Given the description of an element on the screen output the (x, y) to click on. 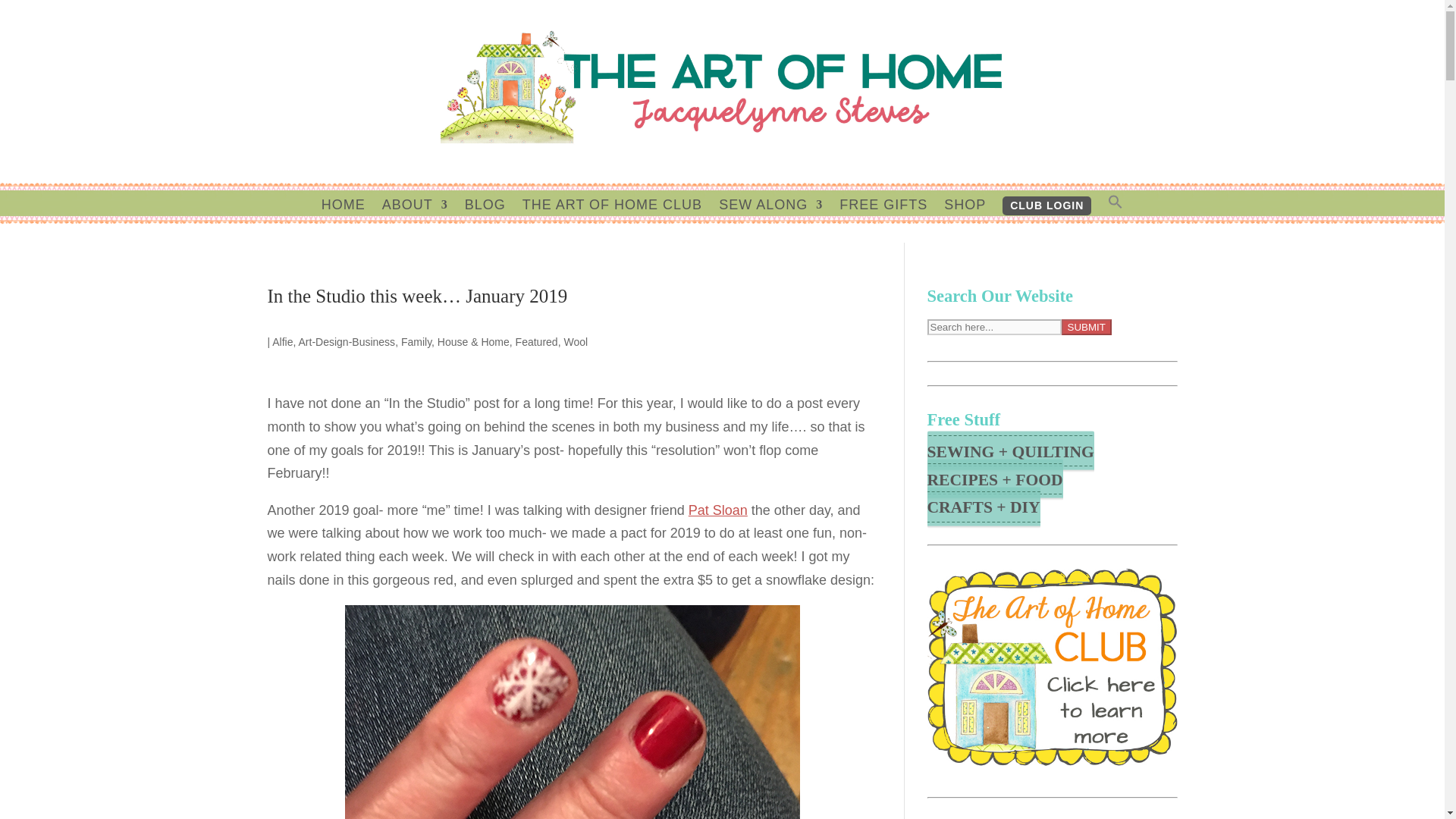
SEW ALONG (770, 219)
THE ART OF HOME CLUB (611, 219)
SUBMIT (1086, 326)
FREE GIFTS (883, 219)
BLOG (484, 219)
SHOP (964, 219)
SUBMIT (1086, 326)
HOME (343, 219)
Art-Design-Business (347, 341)
Alfie (282, 341)
Wool (575, 341)
ABOUT (414, 219)
Featured (536, 341)
CLUB LOGIN (1046, 205)
